Given the description of an element on the screen output the (x, y) to click on. 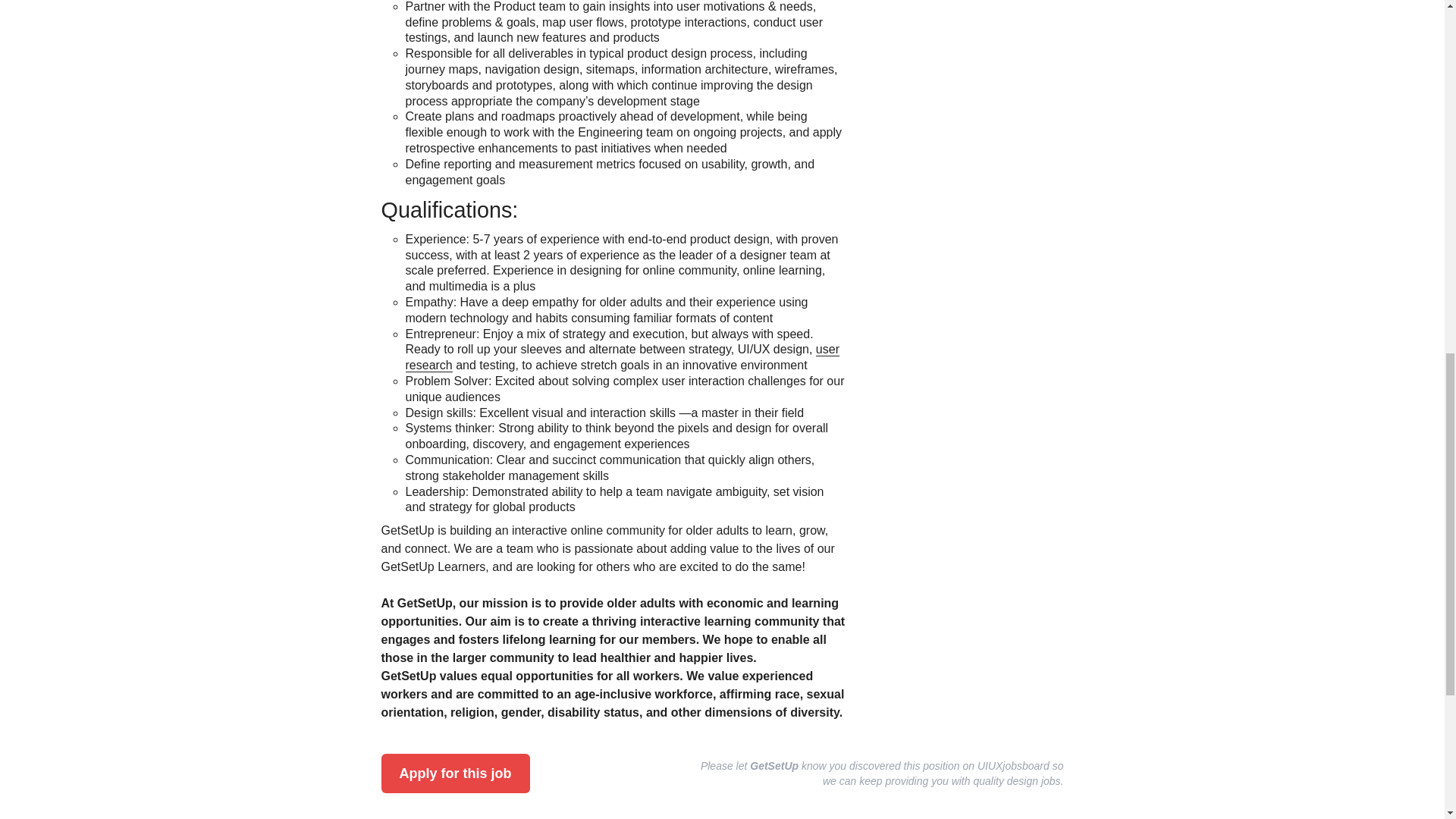
user research (621, 357)
Apply for this job (454, 773)
